Given the description of an element on the screen output the (x, y) to click on. 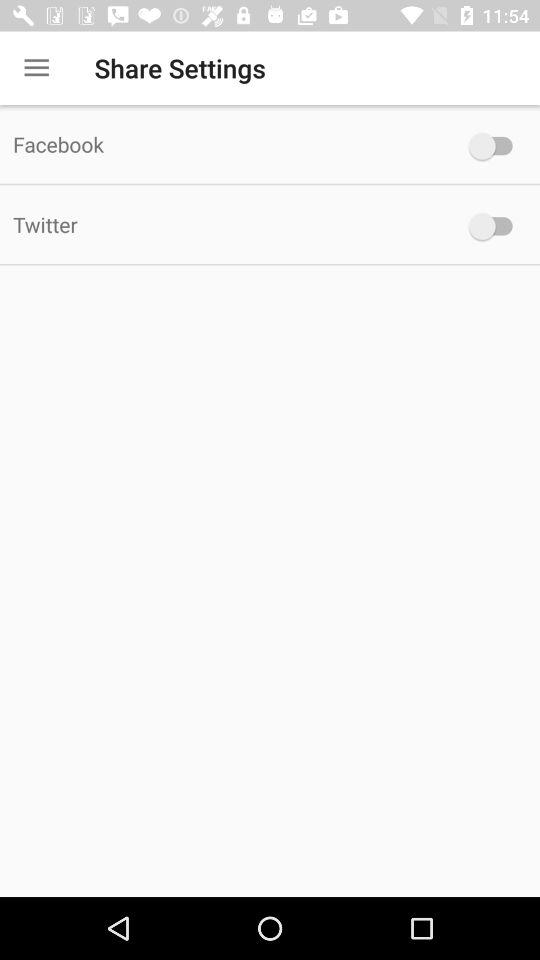
toggle option to share on twitter (495, 226)
